Given the description of an element on the screen output the (x, y) to click on. 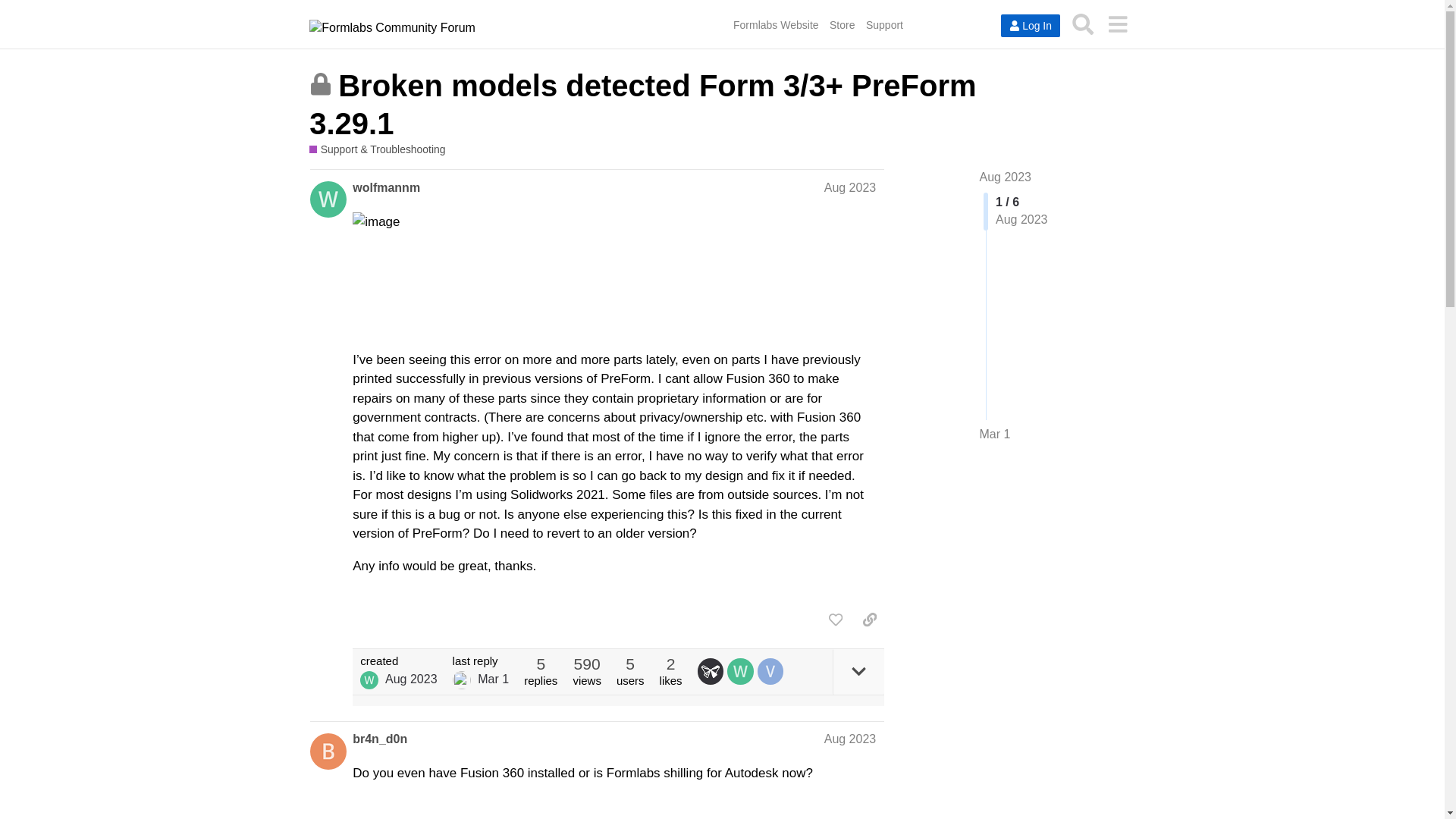
This topic is closed; it no longer accepts new replies (319, 83)
Search (1082, 23)
Wolfmannm (368, 679)
Support (884, 24)
Aug 2023 (850, 738)
Aug 2023 (850, 187)
like this post (835, 619)
last reply (480, 660)
Aug 26, 2023 5:07 am (411, 678)
expand topic details (857, 671)
Mar 1, 2024 10:36 am (492, 678)
Store (842, 24)
Jump to the first post (1005, 176)
copy a link to this post to clipboard (869, 619)
menu (1117, 23)
